Given the description of an element on the screen output the (x, y) to click on. 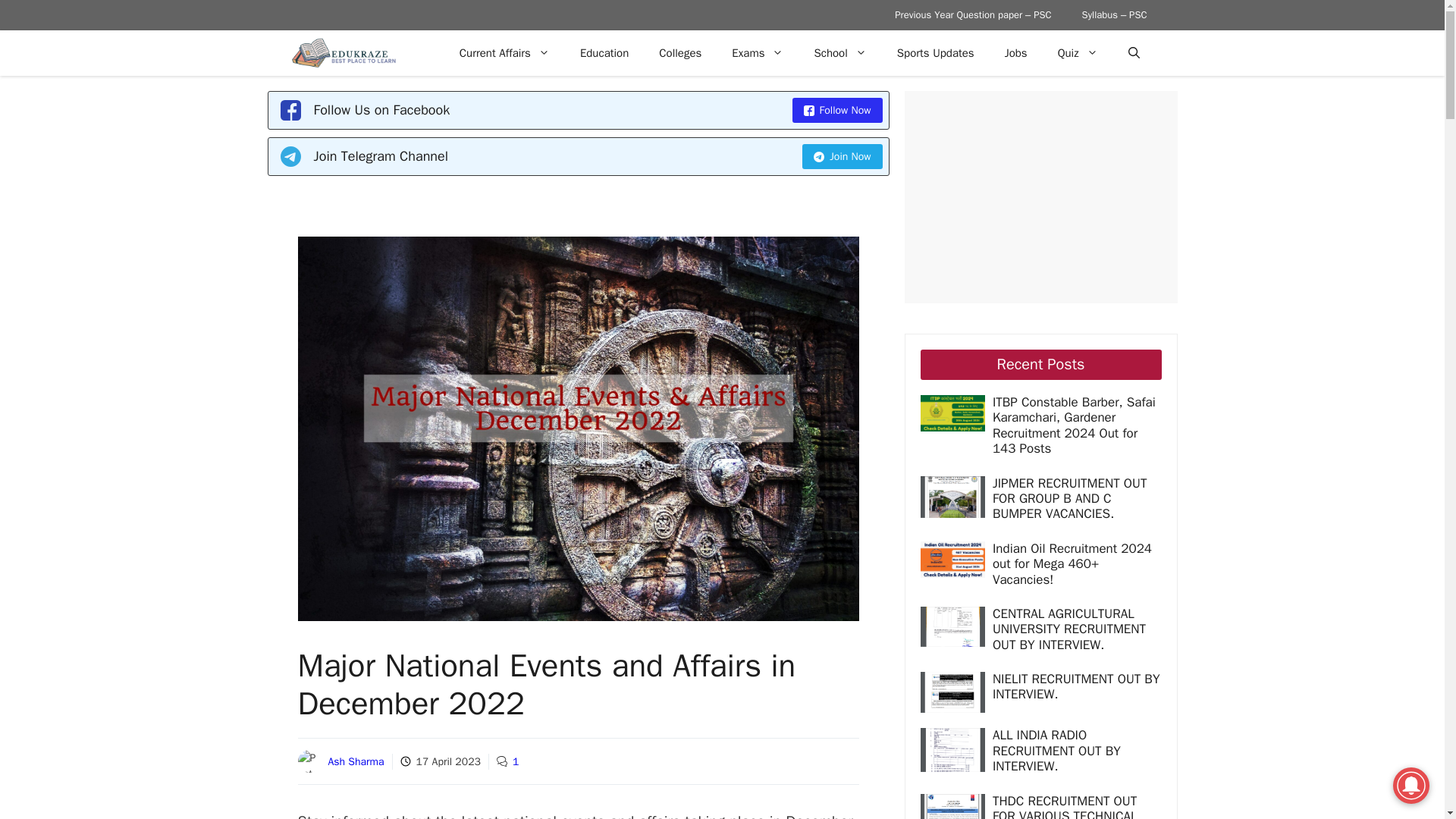
School (838, 53)
Sports Updates (936, 53)
Colleges (679, 53)
Education (603, 53)
Current Affairs (504, 53)
Exams (756, 53)
Ash Sharma (355, 761)
Join Now (842, 156)
Quiz (1077, 53)
Jobs (1016, 53)
Advertisement (1074, 196)
EduKraze (345, 53)
Follow Now (837, 109)
